Given the description of an element on the screen output the (x, y) to click on. 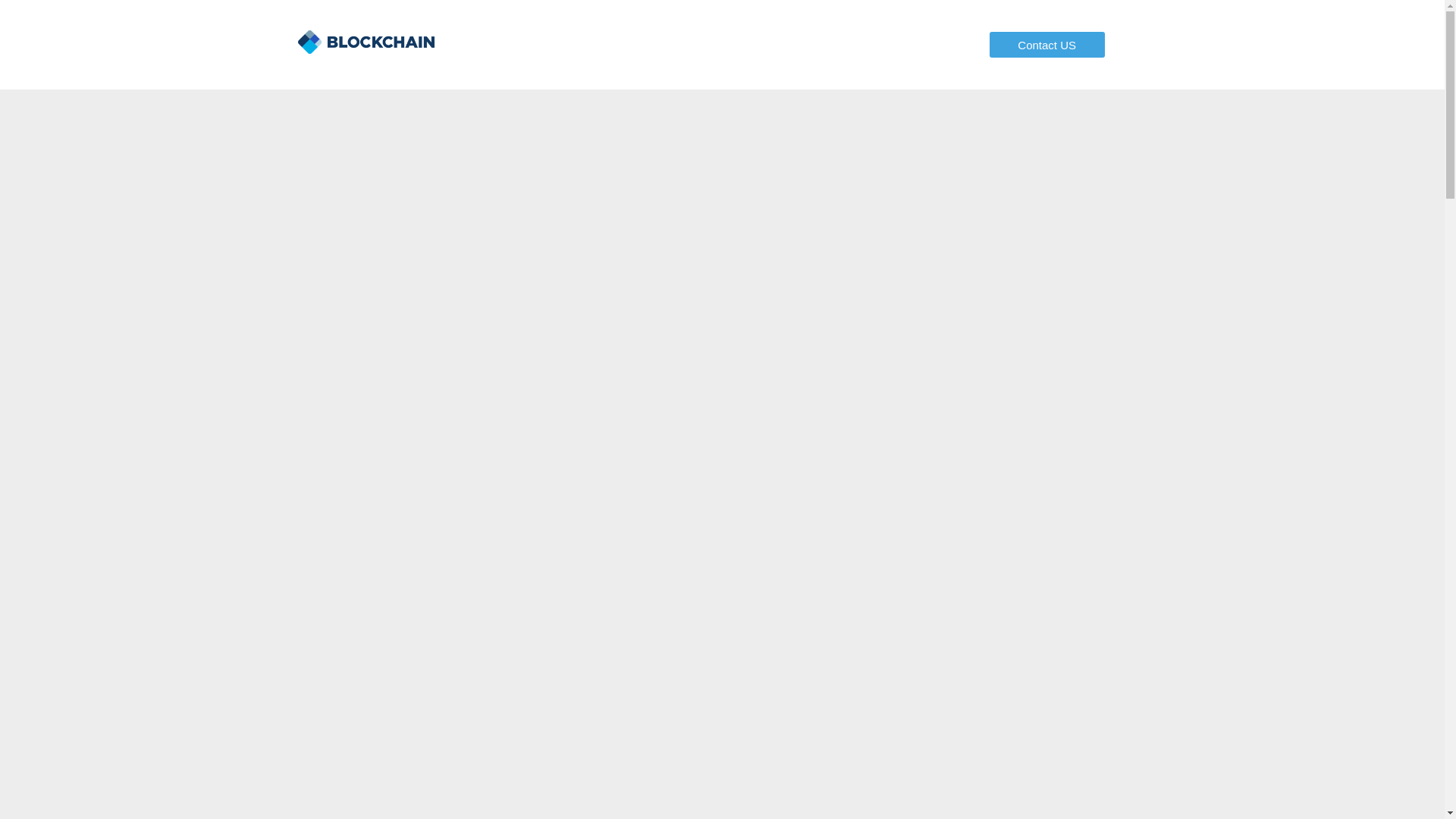
Contact US (1047, 44)
